Given the description of an element on the screen output the (x, y) to click on. 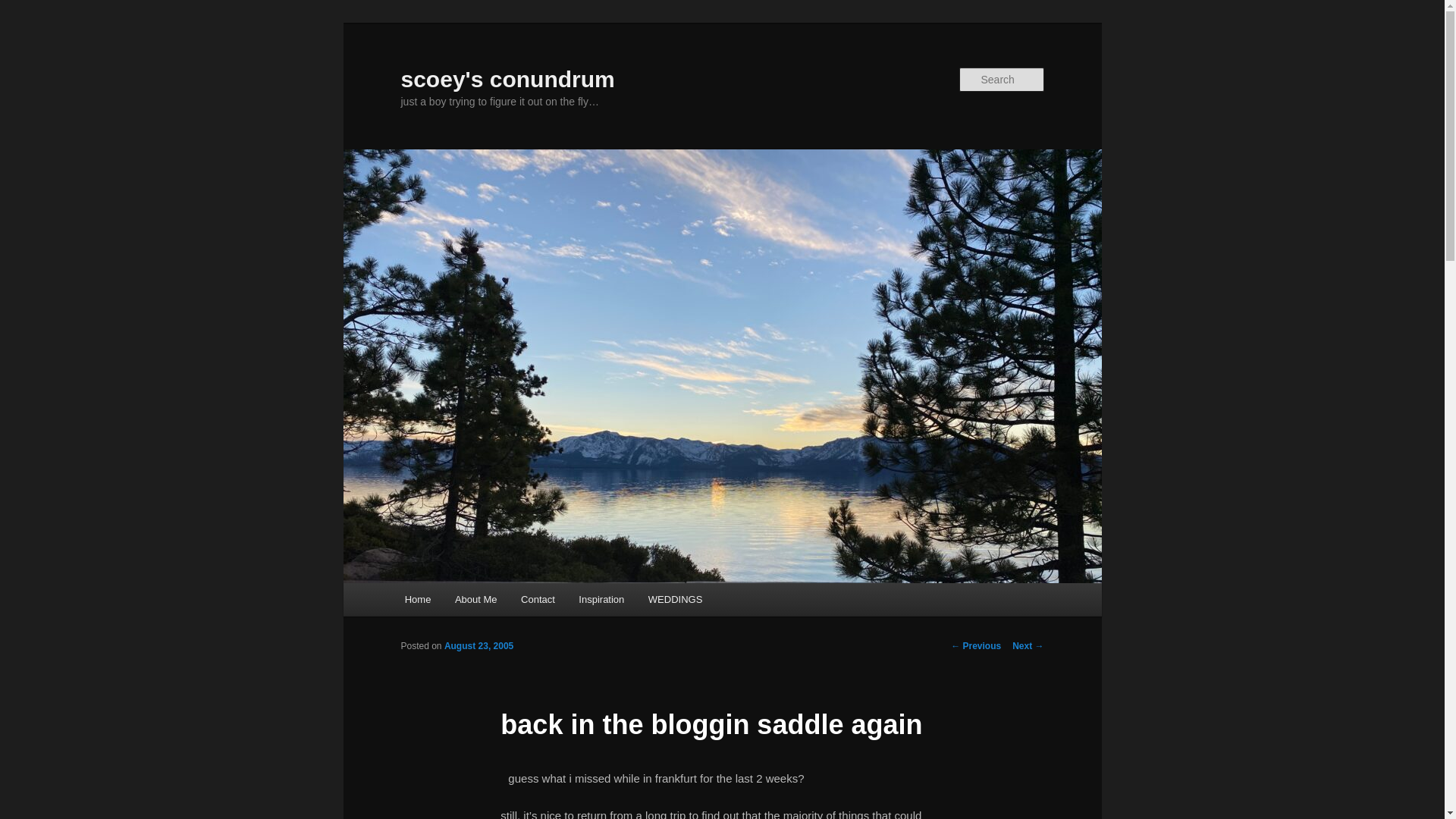
Search (24, 8)
August 23, 2005 (478, 645)
Inspiration (601, 599)
Home (417, 599)
WEDDINGS (675, 599)
14:10 (478, 645)
About Me (475, 599)
scoey's conundrum (507, 78)
Contact (537, 599)
